Given the description of an element on the screen output the (x, y) to click on. 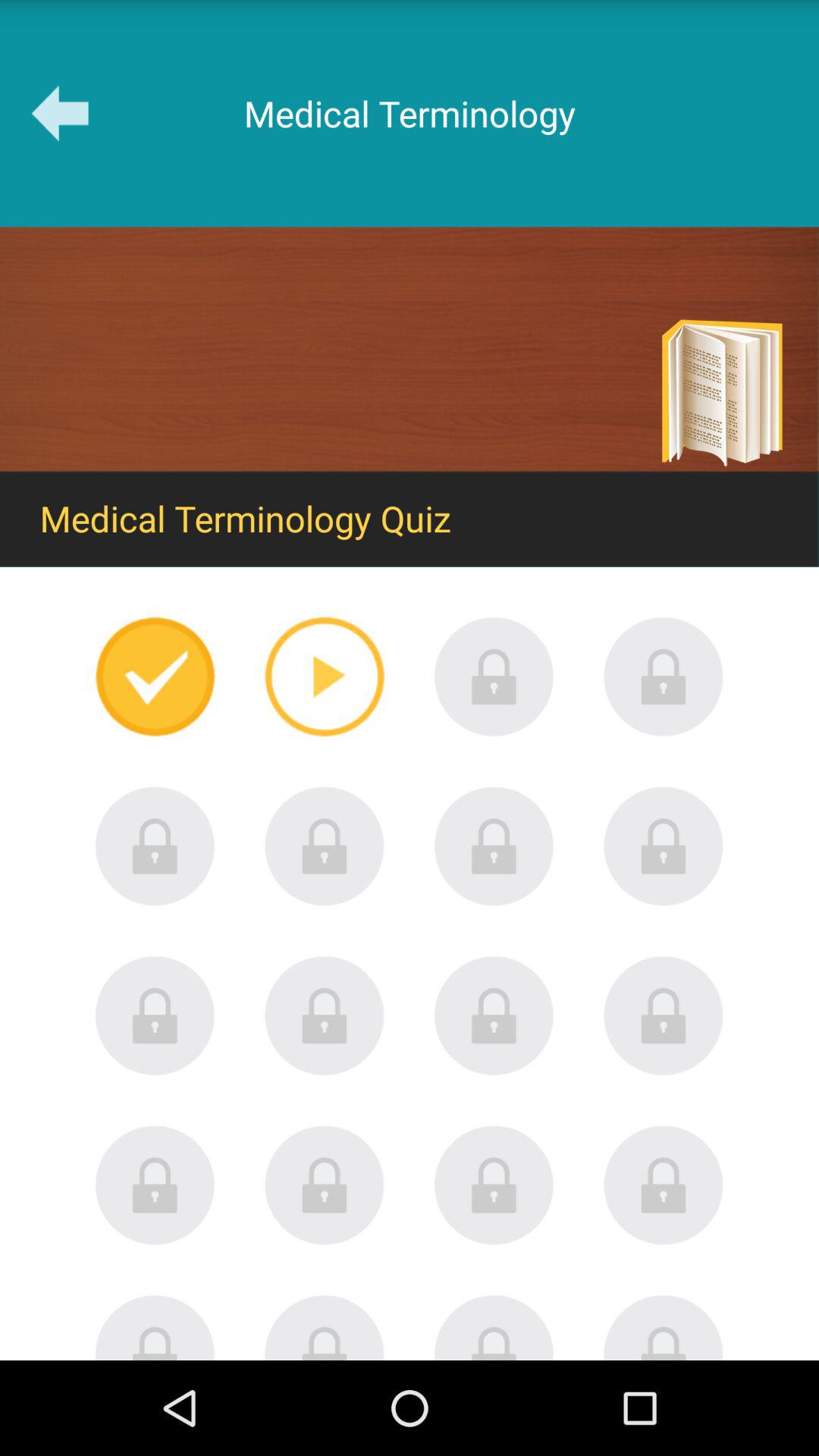
locked until other games completed (663, 1327)
